Given the description of an element on the screen output the (x, y) to click on. 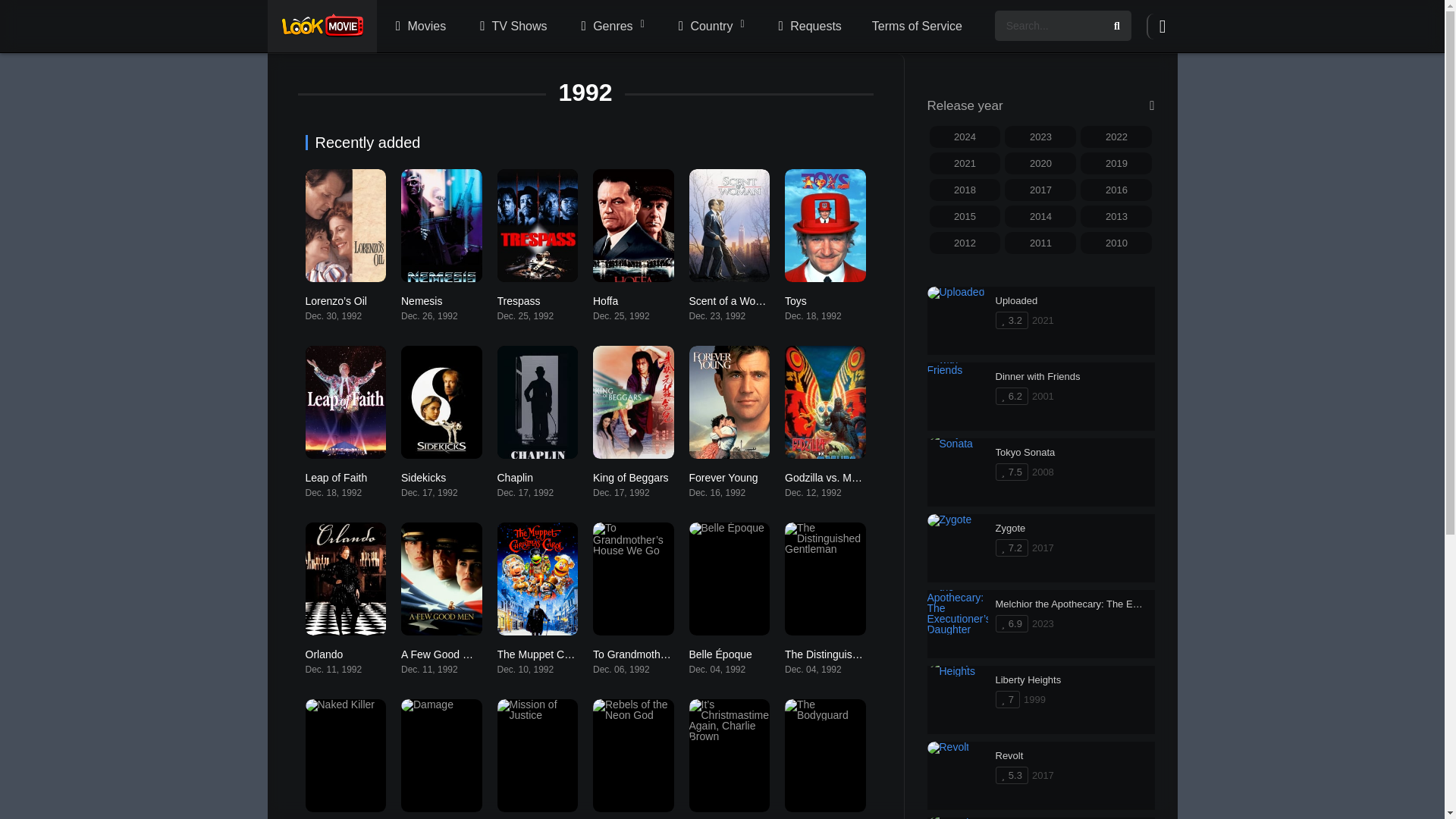
TV Shows (511, 26)
Movies (419, 26)
Genres (610, 26)
Country (709, 26)
